Given the description of an element on the screen output the (x, y) to click on. 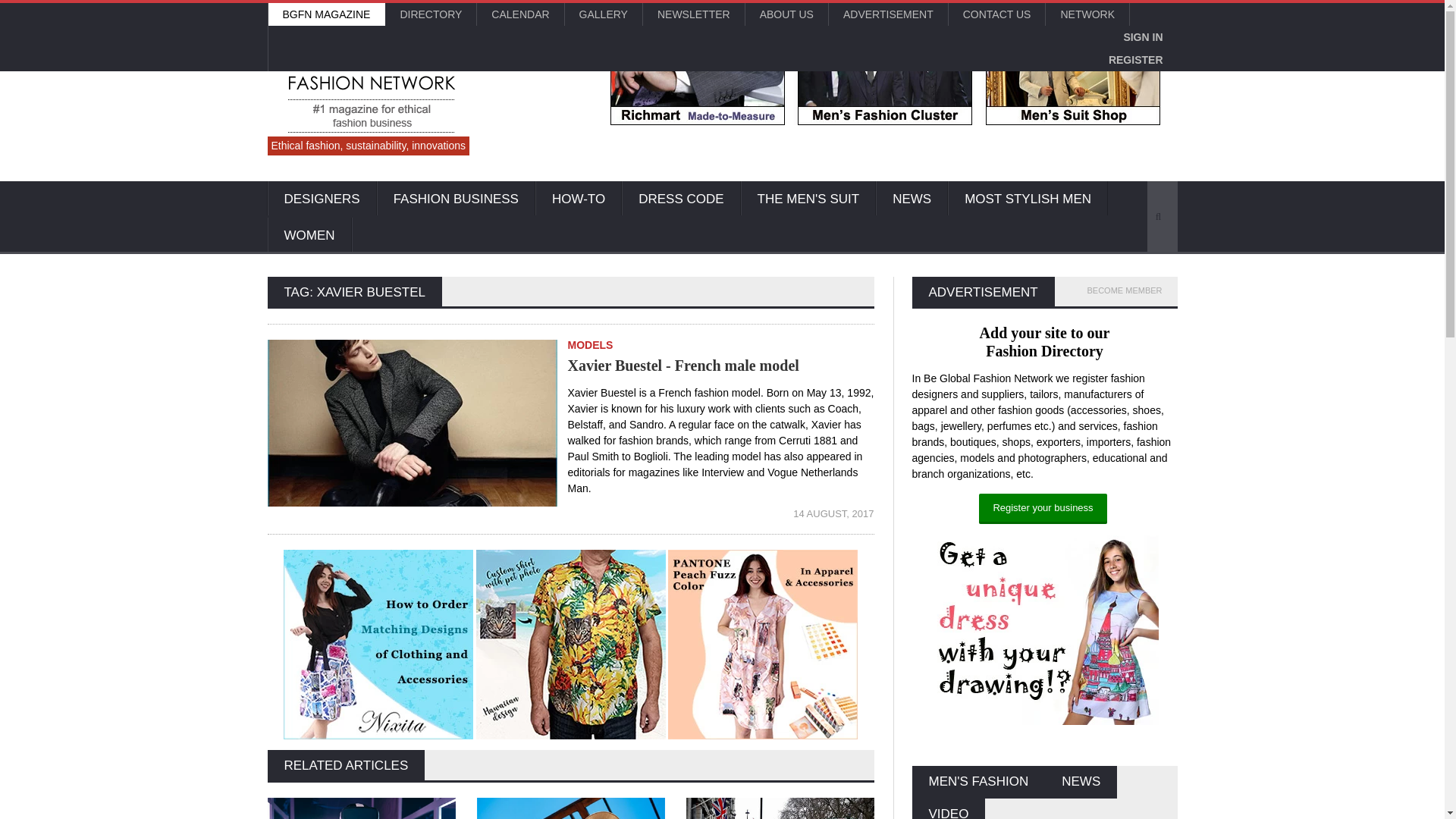
CALENDAR (520, 14)
GALLERY (603, 14)
CONTACT US (997, 14)
SIGN IN (1142, 36)
How to Use the Pantone Color of the Year 2024 (762, 644)
ABOUT US (786, 14)
REGISTER (1135, 59)
ADVERTISEMENT (887, 14)
NEWSLETTER (693, 14)
DESIGNERS (320, 198)
